Given the description of an element on the screen output the (x, y) to click on. 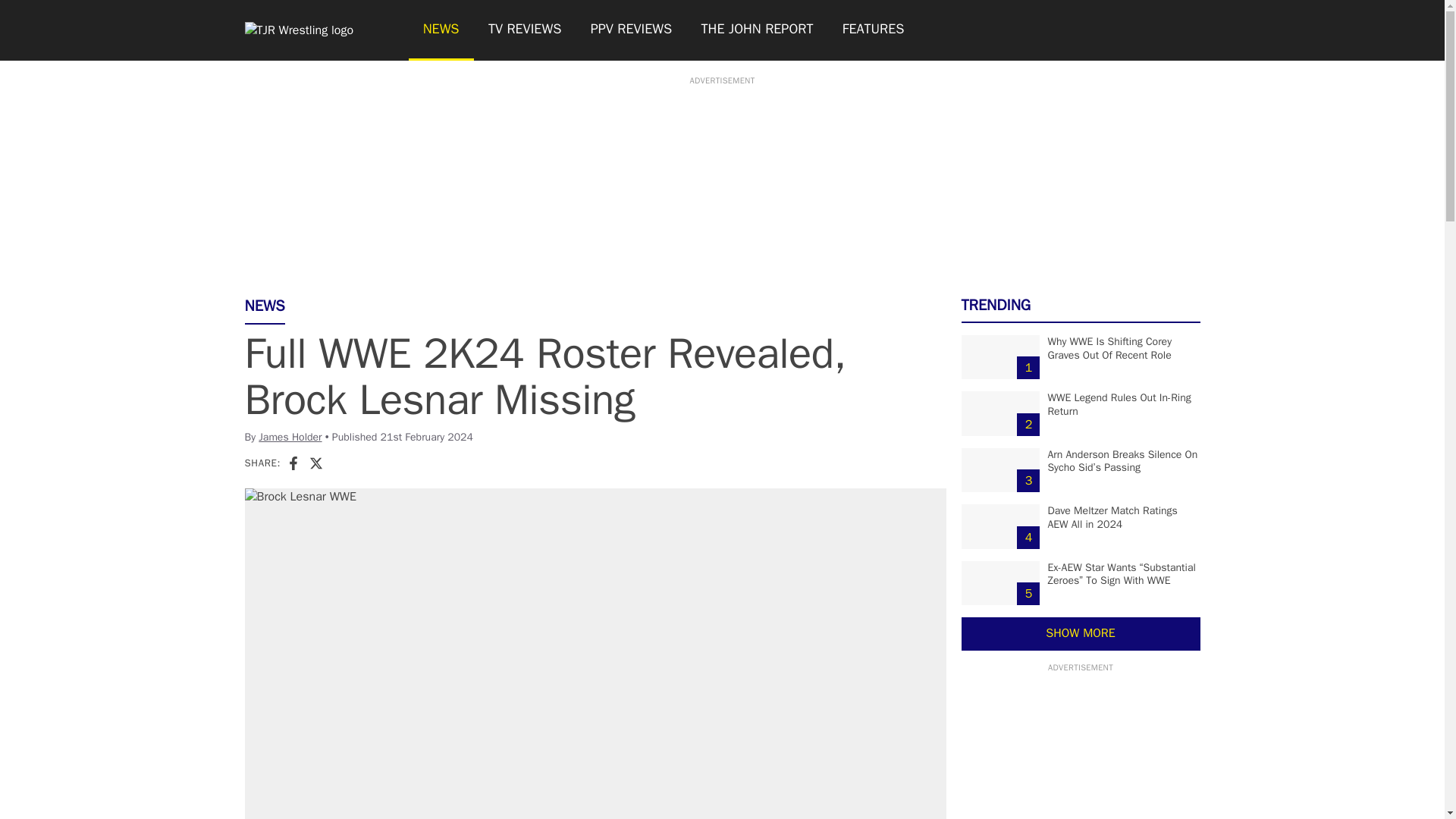
TV REVIEWS (525, 30)
Facebook (292, 462)
NEWS (440, 30)
FEATURES (873, 30)
THE JOHN REPORT (756, 30)
X (315, 463)
X (315, 462)
James Holder (290, 436)
Facebook (292, 463)
PPV REVIEWS (631, 30)
